Given the description of an element on the screen output the (x, y) to click on. 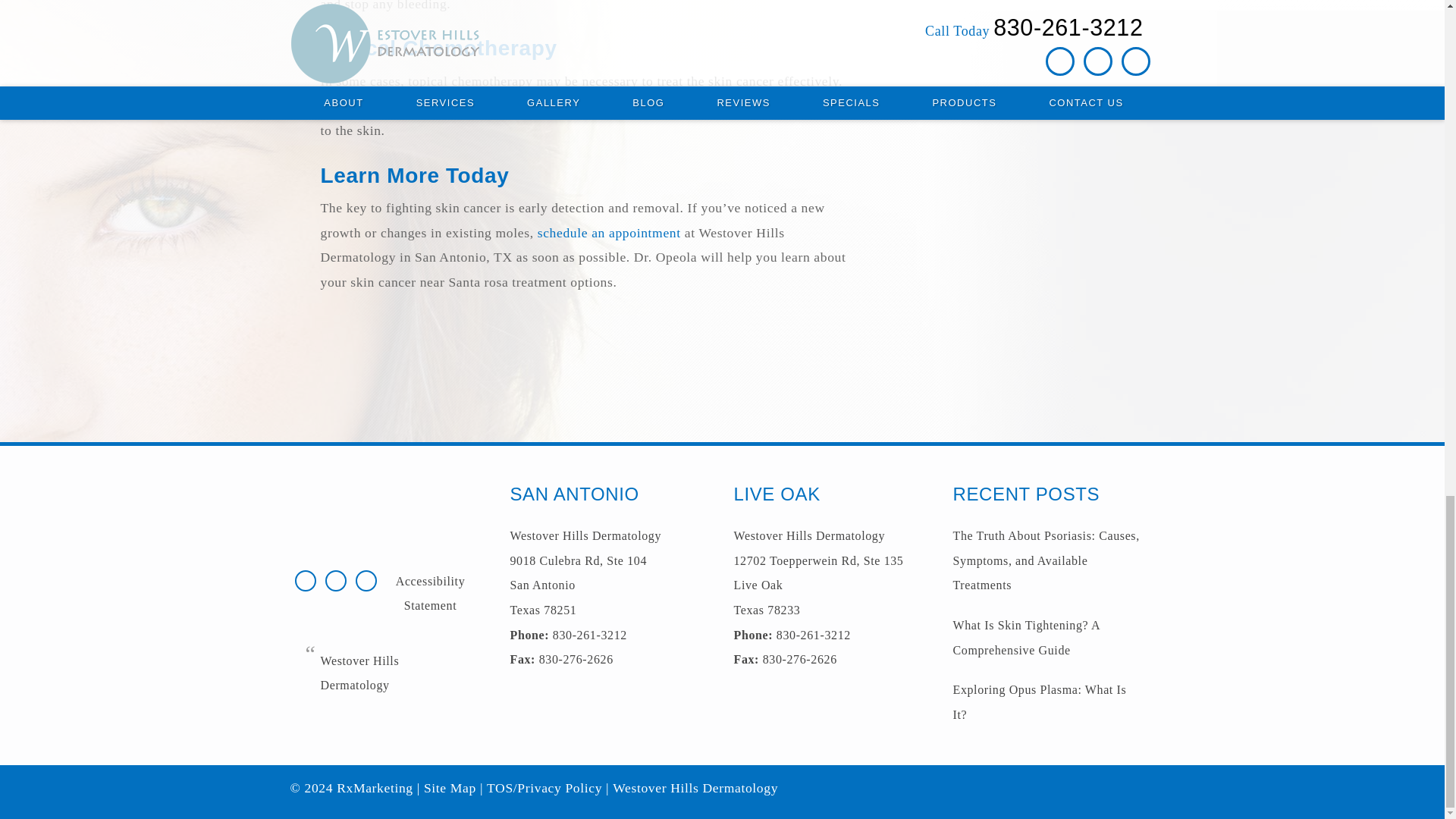
Facebook (303, 580)
Pinterest (334, 580)
Twitter (365, 580)
